Given the description of an element on the screen output the (x, y) to click on. 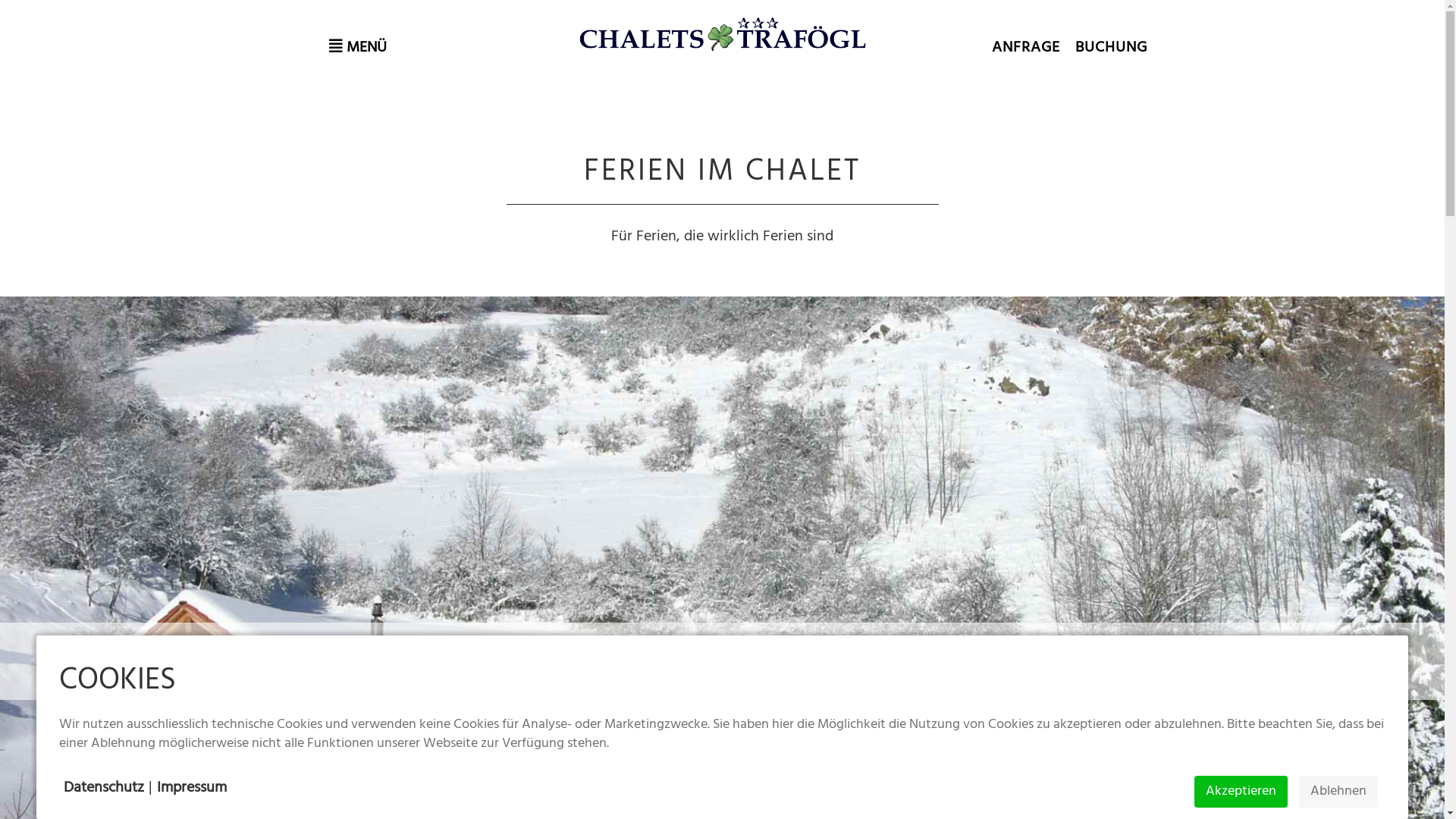
Ablehnen Element type: text (1338, 791)
BUCHUNG Element type: text (1110, 47)
Impressum Element type: text (191, 787)
Akzeptieren Element type: text (1240, 791)
ANFRAGE Element type: text (1025, 47)
Datenschutz Element type: text (103, 787)
